Given the description of an element on the screen output the (x, y) to click on. 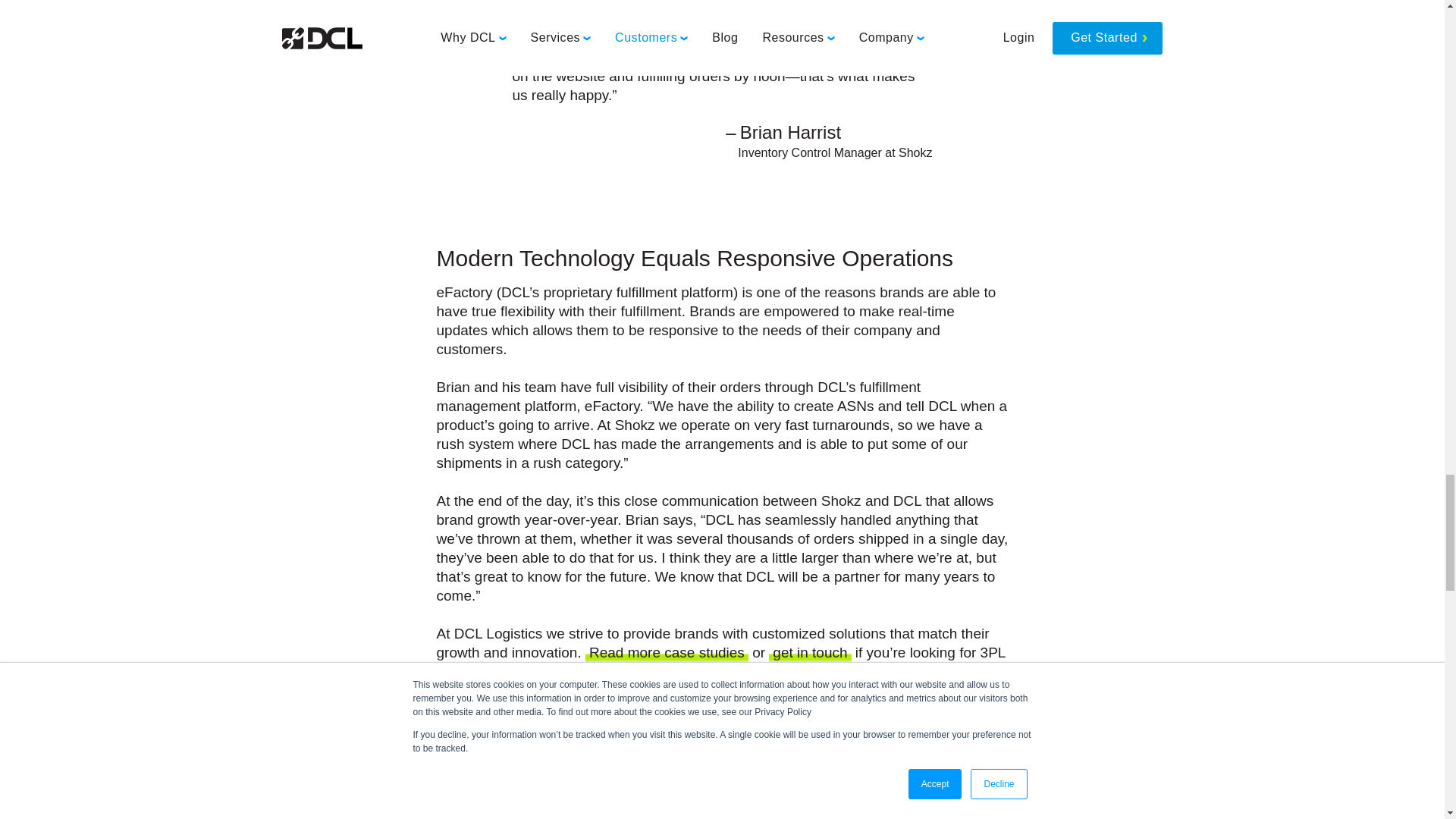
Read more case studies (666, 653)
get in touch (809, 653)
